Given the description of an element on the screen output the (x, y) to click on. 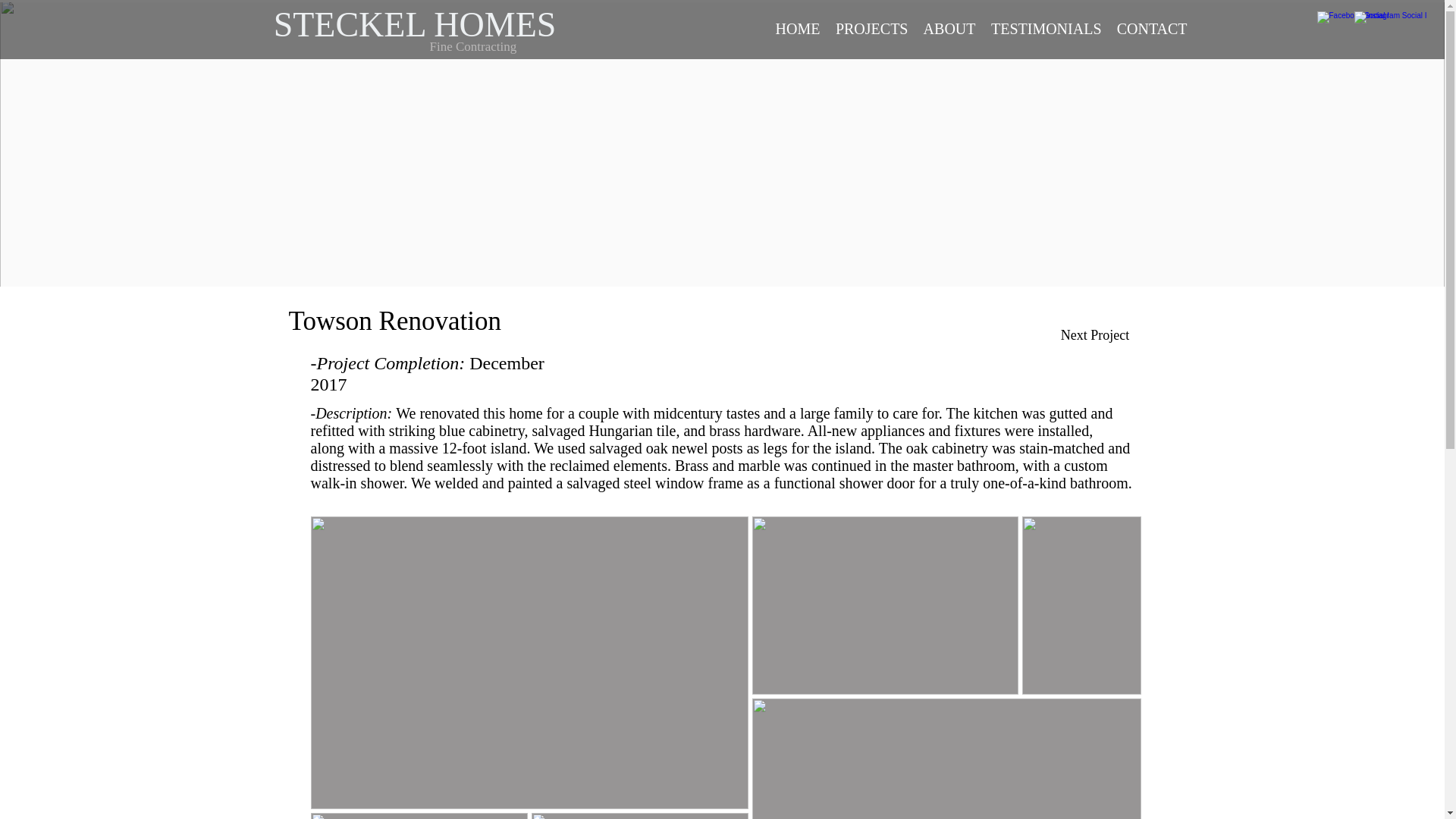
CONTACT (1150, 28)
ABOUT (949, 28)
PROJECTS (871, 28)
Next Project (1095, 336)
HOME (797, 28)
TESTIMONIALS (1045, 28)
